Given the description of an element on the screen output the (x, y) to click on. 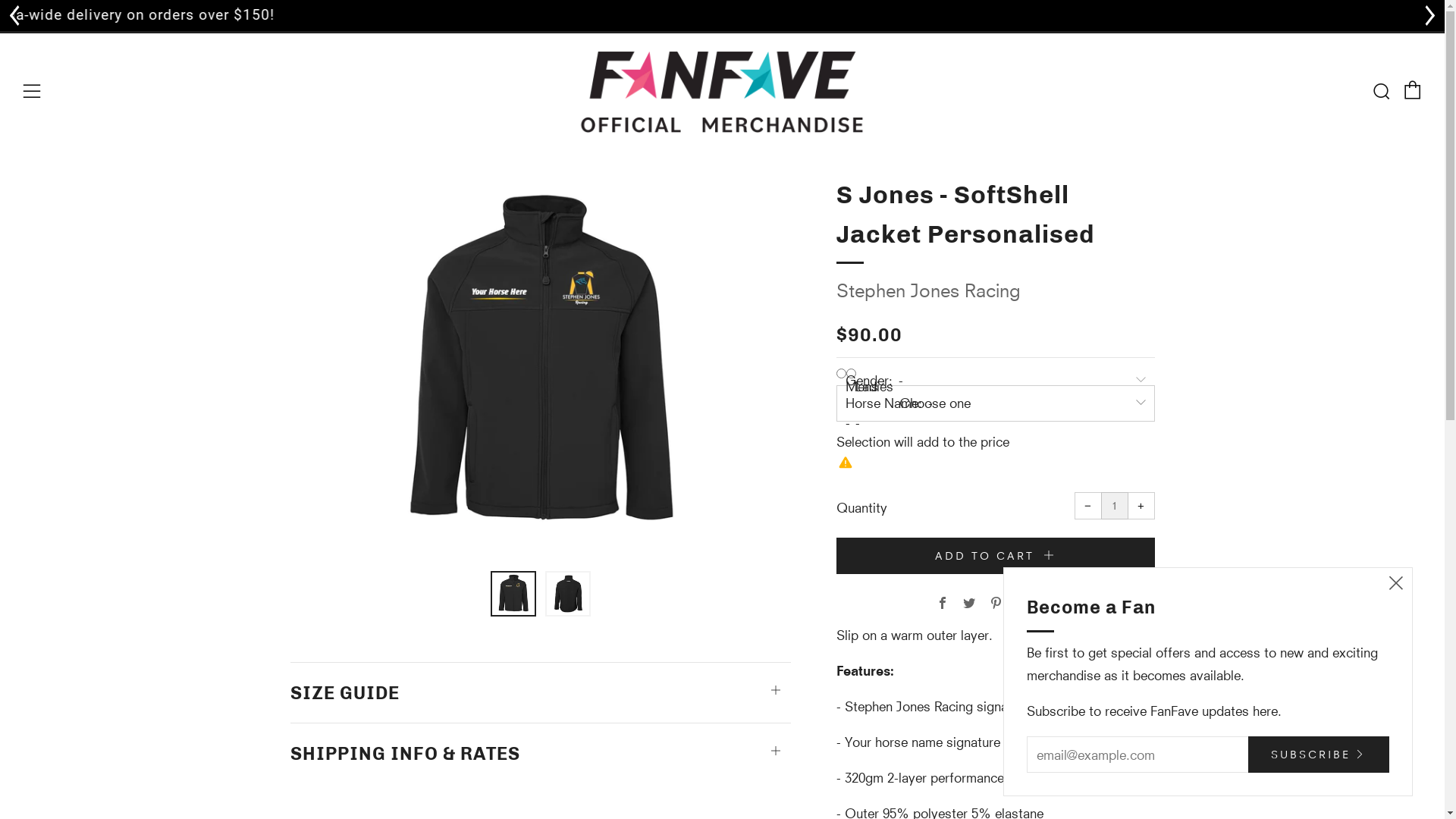
Cart Element type: text (1412, 90)
Facebook Element type: text (941, 603)
SUBSCRIBE Element type: text (1318, 754)
Close (esc) Element type: text (1396, 583)
ADD TO CART Element type: text (994, 555)
Twitter Element type: text (969, 603)
Free Australia-wide delivery on orders over $150! Element type: text (722, 15)
+
Increase item quantity by one Element type: text (1140, 505)
SHIPPING INFO & RATES
Open tab Element type: text (539, 745)
Search Element type: text (1380, 90)
Email Element type: text (1047, 603)
Menu Element type: text (31, 91)
Fancy Element type: text (1022, 603)
Pinterest Element type: text (994, 603)
Stephen Jones Racing Element type: text (927, 290)
SIZE GUIDE
Open tab Element type: text (539, 685)
